Given the description of an element on the screen output the (x, y) to click on. 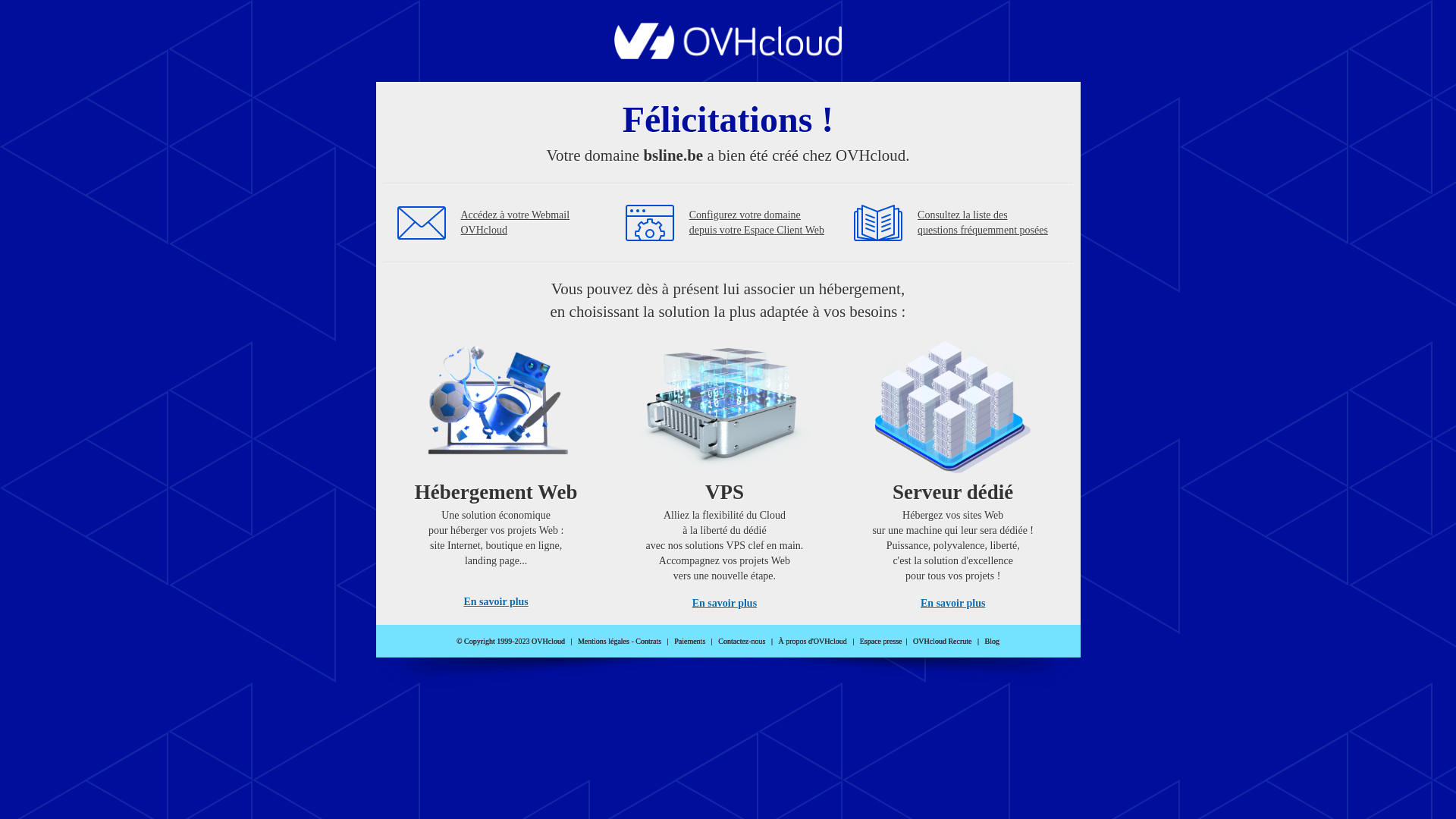
Contactez-nous Element type: text (741, 641)
Espace presse Element type: text (880, 641)
OVHcloud Element type: hover (727, 54)
En savoir plus Element type: text (724, 602)
En savoir plus Element type: text (952, 602)
Paiements Element type: text (689, 641)
OVHcloud Recrute Element type: text (942, 641)
VPS Element type: hover (724, 469)
Blog Element type: text (992, 641)
Configurez votre domaine
depuis votre Espace Client Web Element type: text (756, 222)
En savoir plus Element type: text (495, 601)
